Given the description of an element on the screen output the (x, y) to click on. 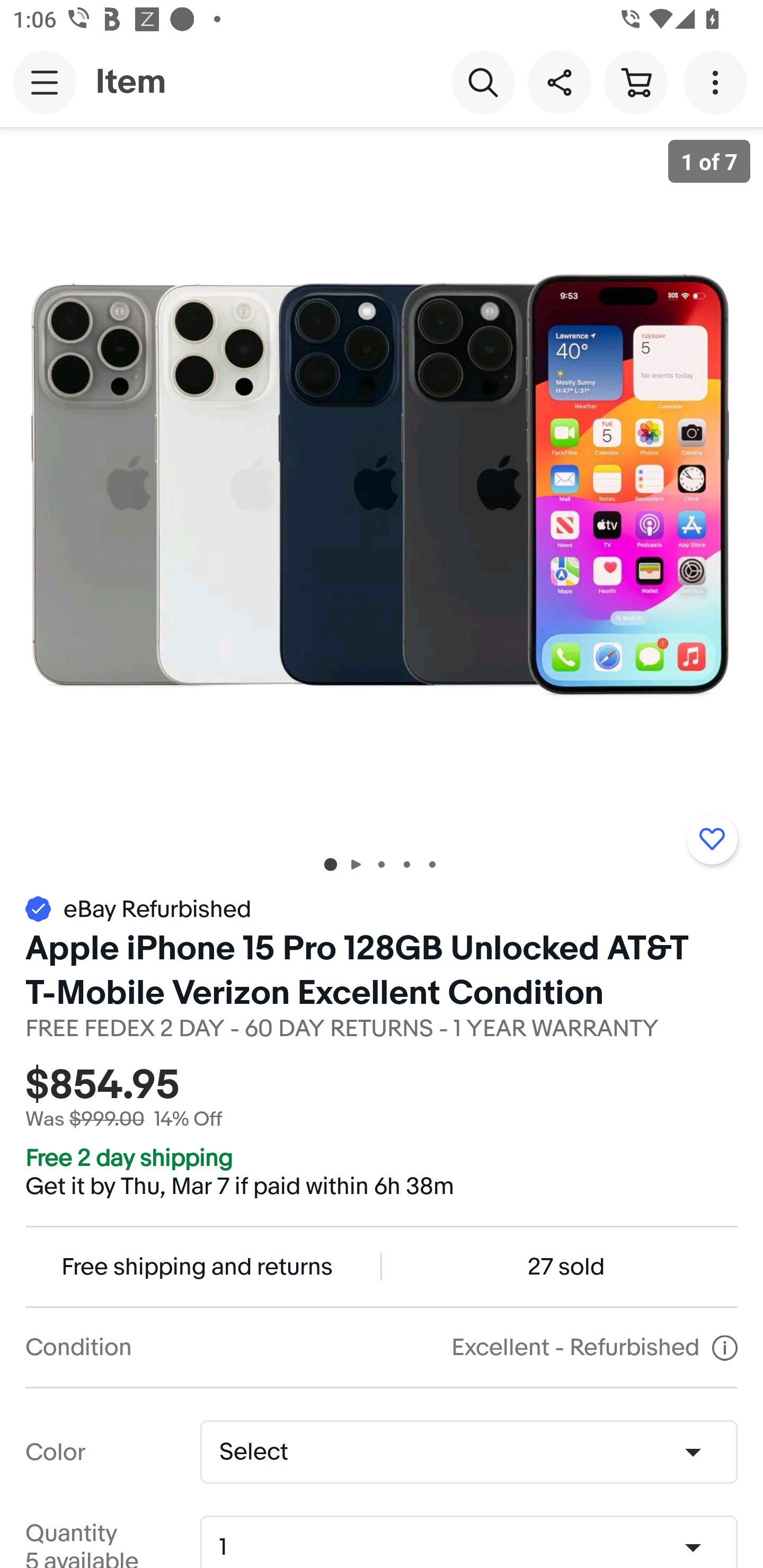
Main navigation, open (44, 82)
Search (482, 81)
Share this item (559, 81)
Cart button shopping cart (635, 81)
More options (718, 81)
Item image 1 of 7 (381, 482)
Add to watchlist (711, 838)
Color,No selection Select (468, 1451)
Quantity,1,5 available 1 (474, 1547)
